Given the description of an element on the screen output the (x, y) to click on. 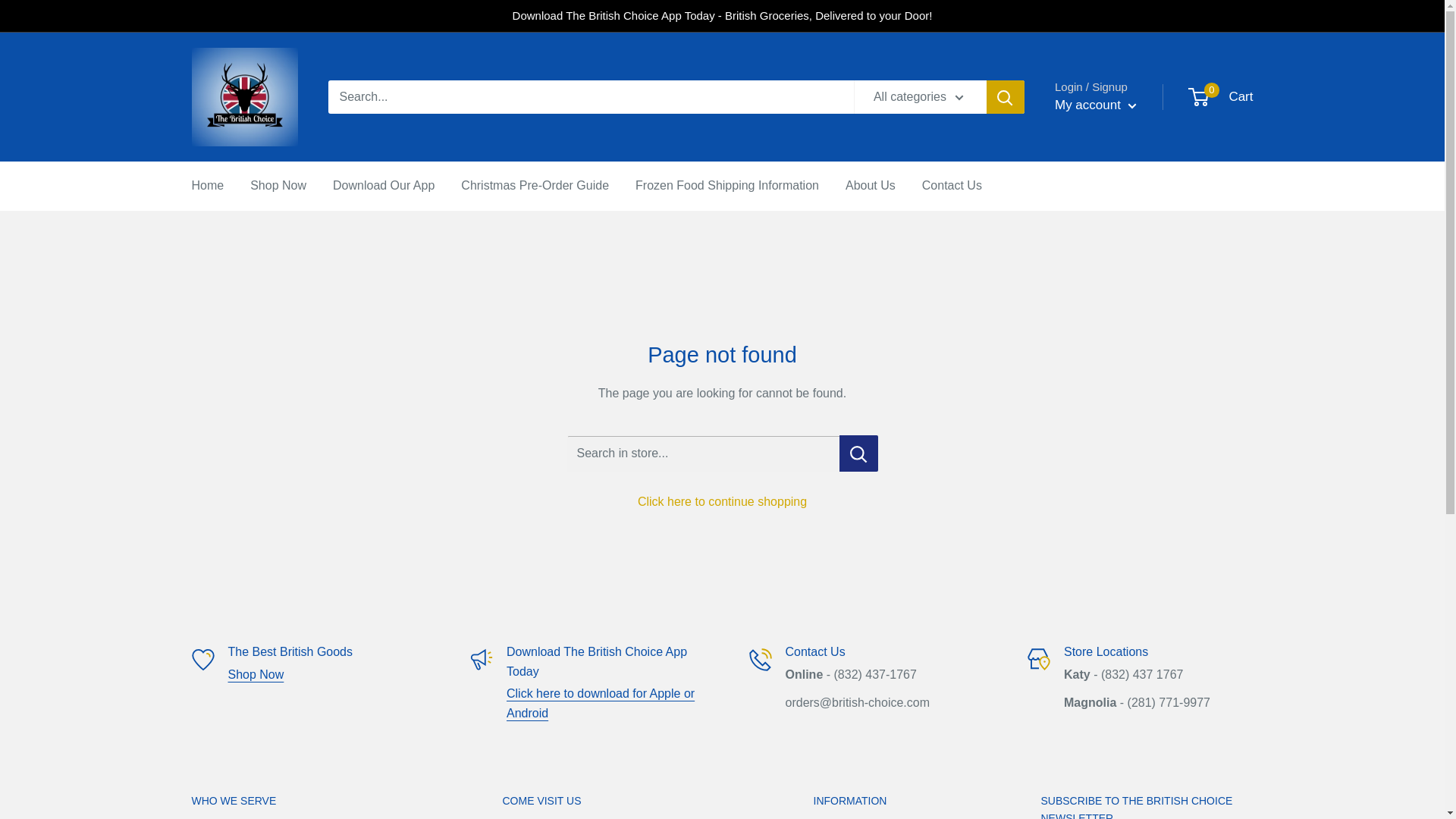
Click here to continue shopping (721, 501)
WHO WE SERVE (319, 801)
All Collections (255, 674)
My account (1095, 105)
Shop Now (255, 674)
COME VISIT US (631, 801)
Shop Now (277, 185)
Click here to download for Apple or Android (600, 703)
Download The British Choice App (600, 703)
Christmas Pre-Order Guide (534, 185)
